Given the description of an element on the screen output the (x, y) to click on. 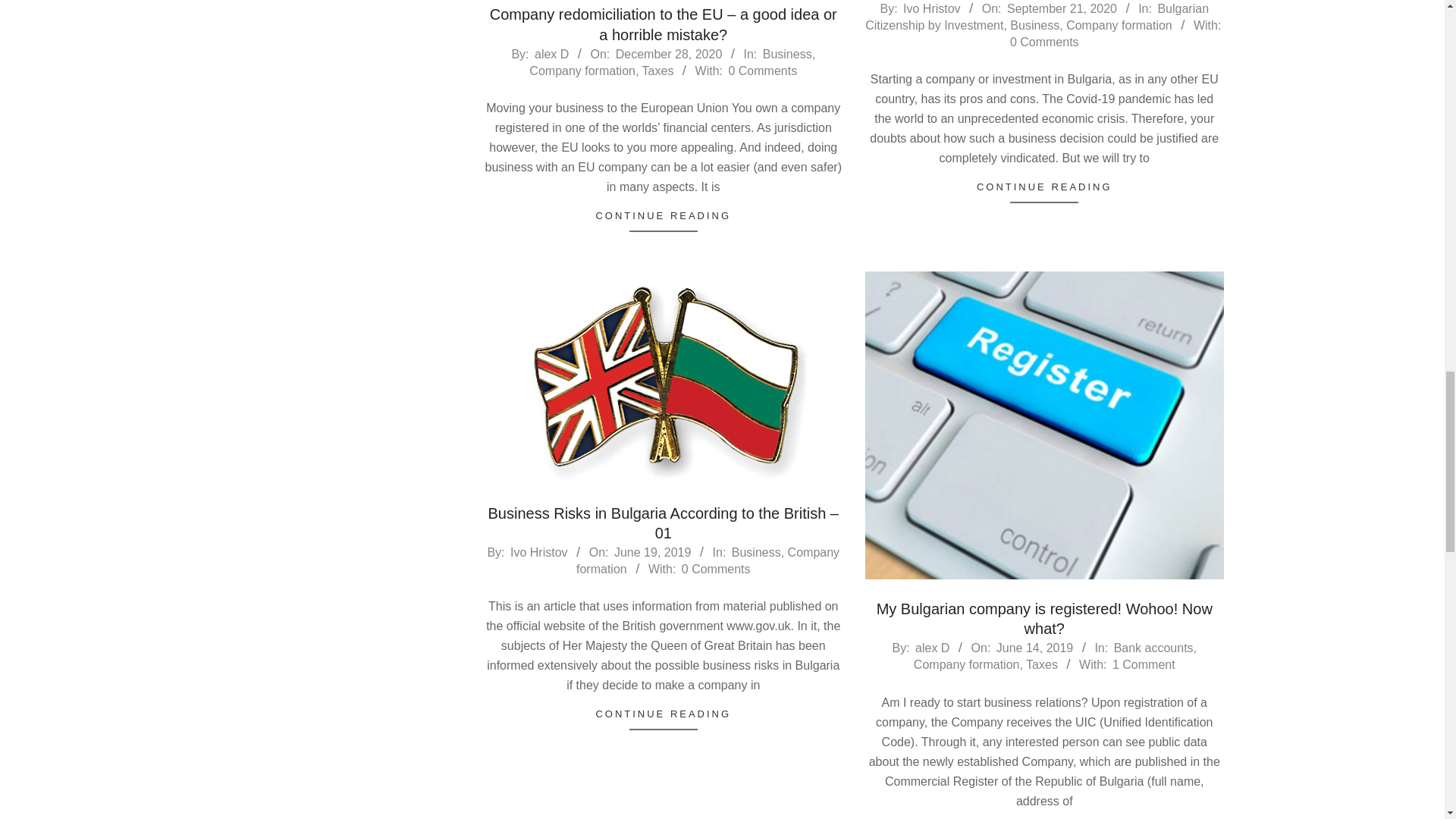
Posts by alex D (551, 53)
Monday, December 28, 2020, 2:18 am (668, 53)
Posts by Ivo Hristov (931, 8)
Wednesday, June 19, 2019, 11:35 am (652, 552)
Posts by Ivo Hristov (539, 552)
Monday, September 21, 2020, 5:59 pm (1061, 8)
Friday, June 14, 2019, 5:59 pm (1034, 647)
Posts by alex D (932, 647)
